Given the description of an element on the screen output the (x, y) to click on. 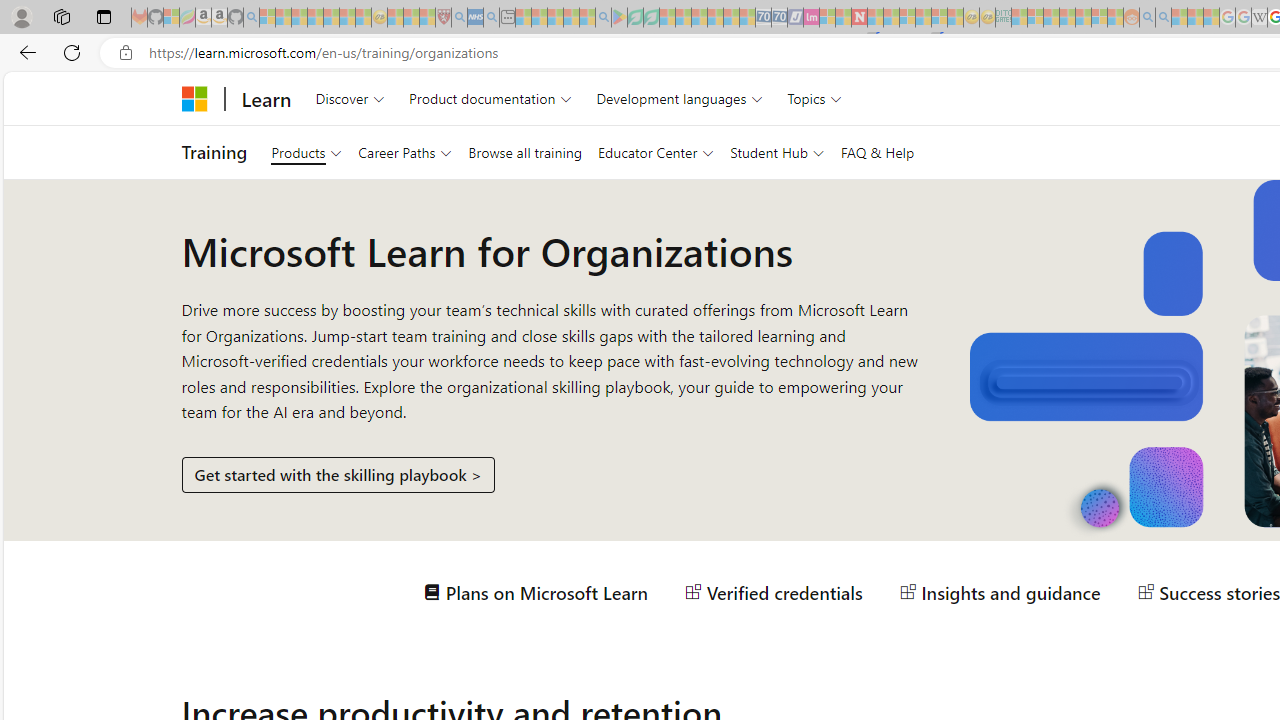
New Report Confirms 2023 Was Record Hot | Watch - Sleeping (331, 17)
Learn (265, 98)
Plans on Microsoft Learn (536, 592)
Recipes - MSN - Sleeping (395, 17)
Utah sues federal government - Search - Sleeping (1163, 17)
Verified credentials (773, 592)
Browse all training (524, 152)
google - Search - Sleeping (603, 17)
Educator Center (655, 152)
